Given the description of an element on the screen output the (x, y) to click on. 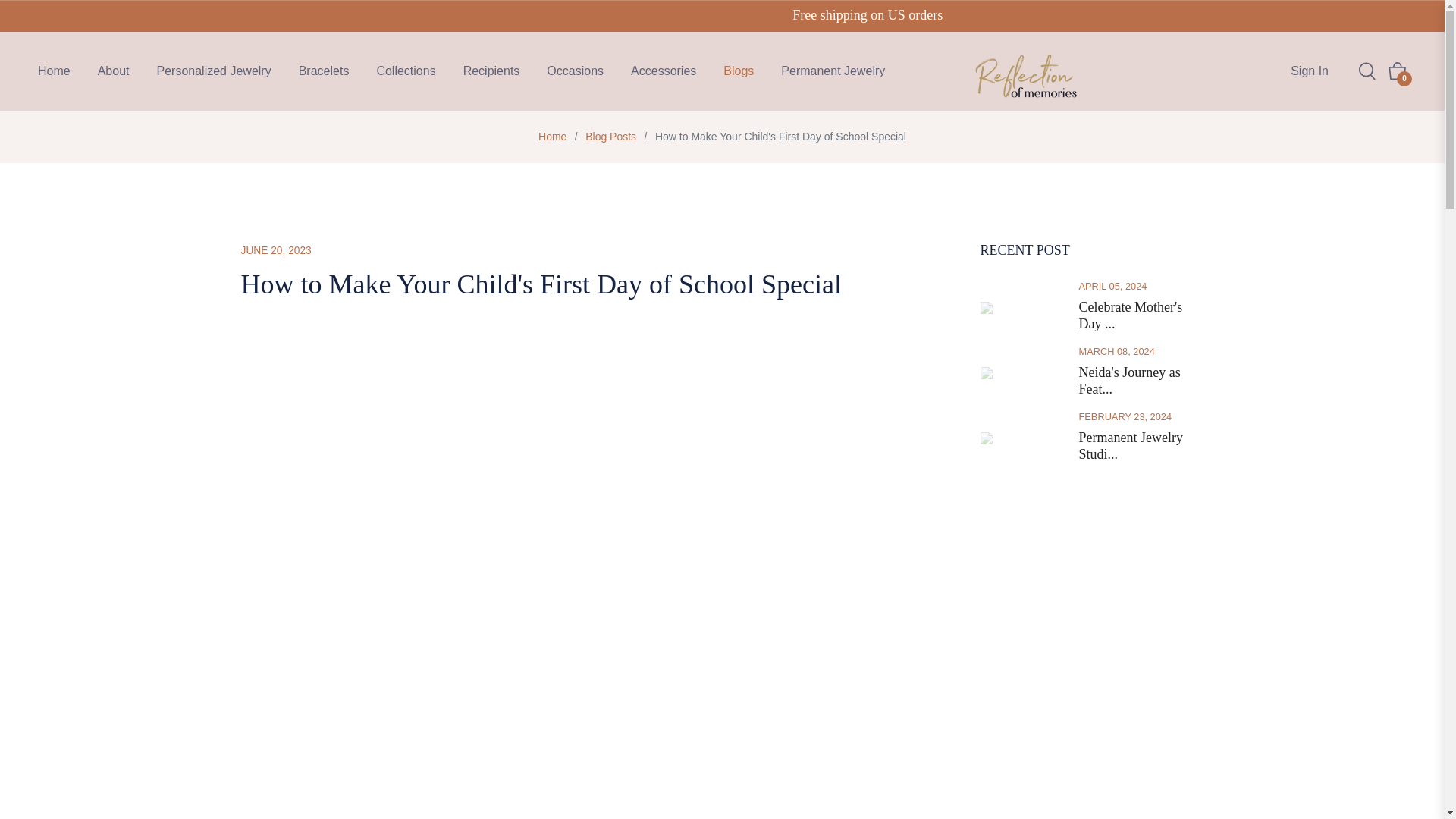
Occasions (574, 71)
Shopping Cart (1397, 71)
Home (552, 136)
Collections (405, 71)
Bracelets (323, 71)
Personalized Jewelry (212, 71)
Recipients (491, 71)
